Given the description of an element on the screen output the (x, y) to click on. 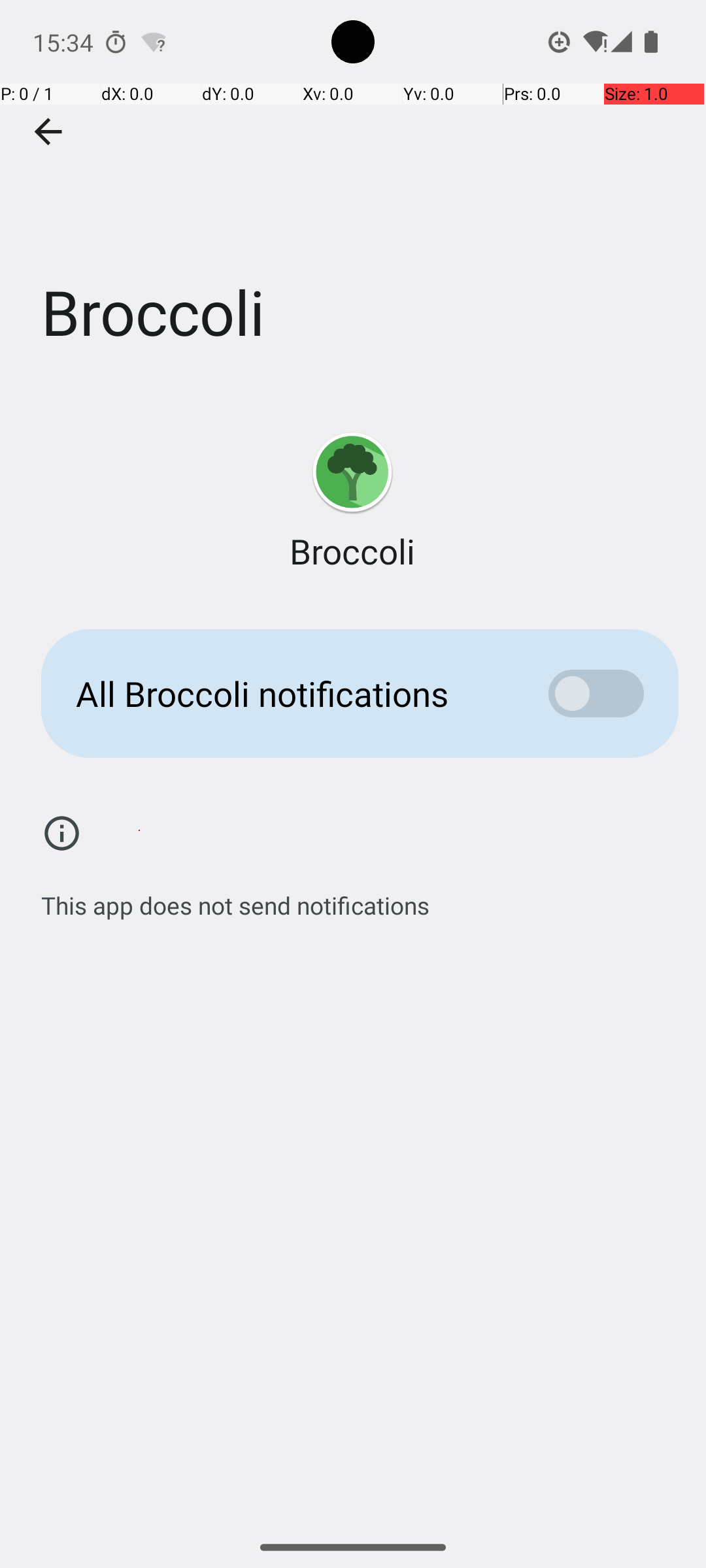
All Broccoli notifications Element type: android.widget.TextView (291, 693)
This app does not send notifications Element type: android.widget.TextView (235, 898)
